Given the description of an element on the screen output the (x, y) to click on. 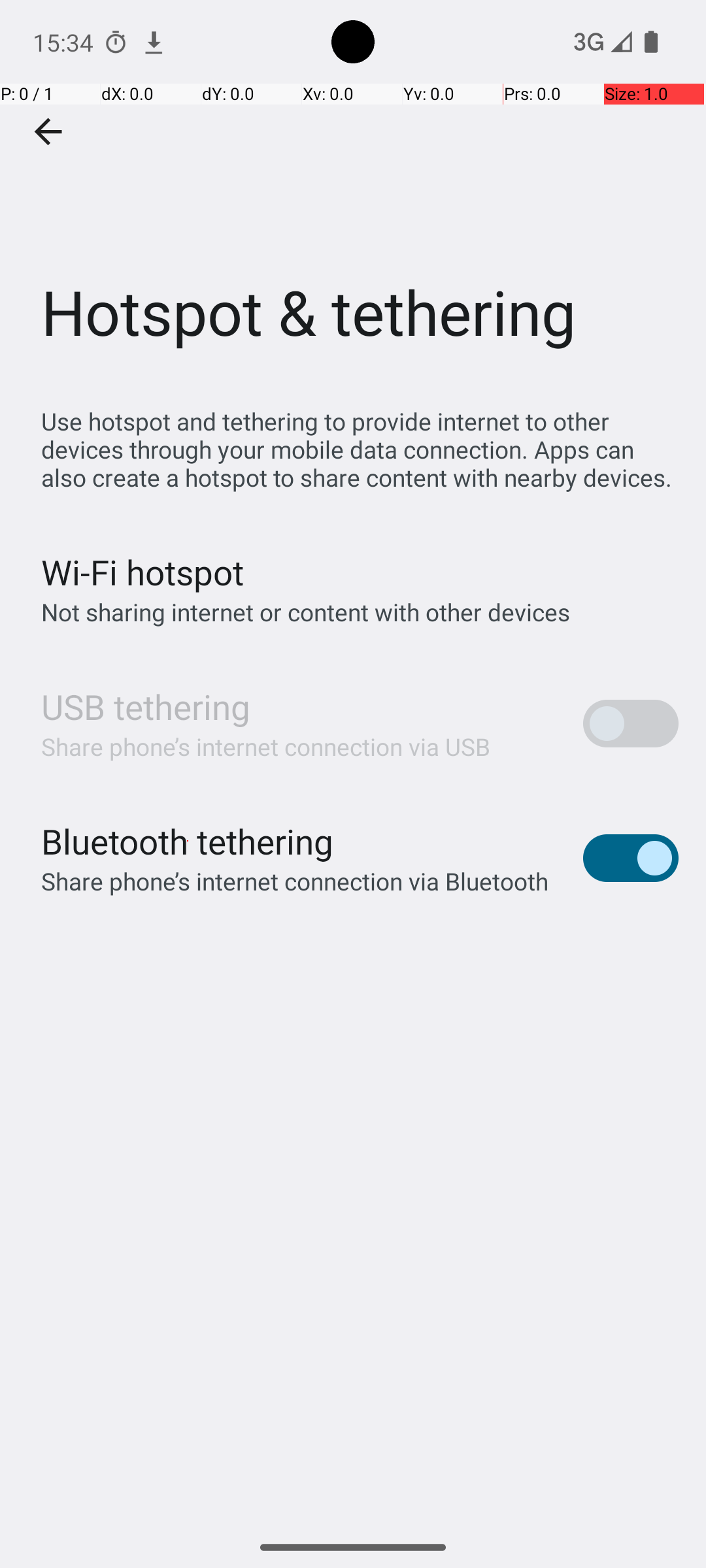
Use hotspot and tethering to provide internet to other devices through your mobile data connection. Apps can also create a hotspot to share content with nearby devices. Element type: android.widget.TextView (359, 448)
Wi‑Fi hotspot Element type: android.widget.TextView (142, 571)
Not sharing internet or content with other devices Element type: android.widget.TextView (305, 611)
USB tethering Element type: android.widget.TextView (145, 706)
Share phone’s internet connection via USB Element type: android.widget.TextView (265, 746)
Bluetooth tethering Element type: android.widget.TextView (187, 840)
Share phone’s internet connection via Bluetooth Element type: android.widget.TextView (294, 880)
